Given the description of an element on the screen output the (x, y) to click on. 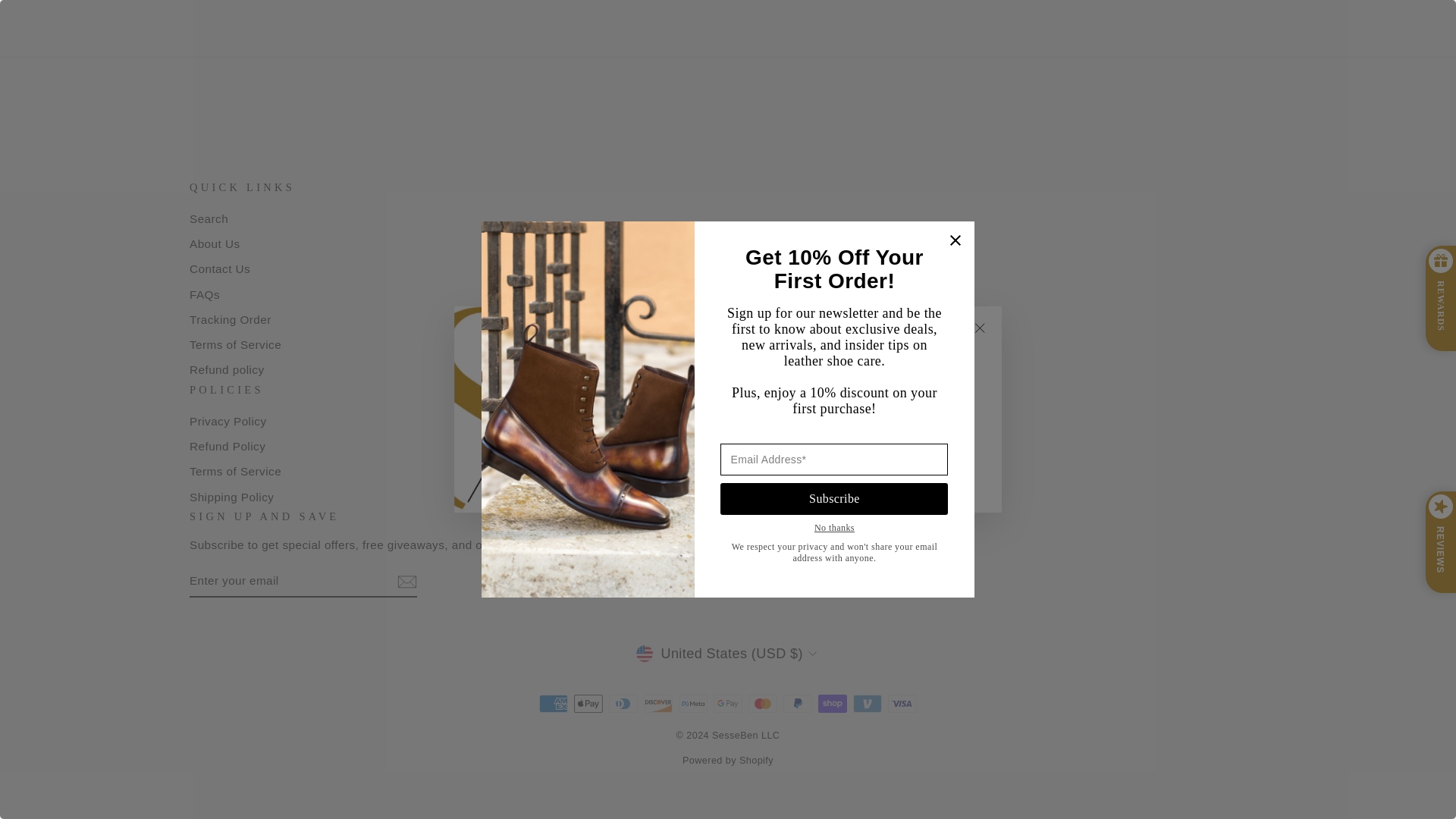
Google Pay (727, 703)
icon-email (406, 581)
Discover (657, 703)
Diners Club (622, 703)
Meta Pay (692, 703)
Apple Pay (587, 703)
American Express (552, 703)
